Given the description of an element on the screen output the (x, y) to click on. 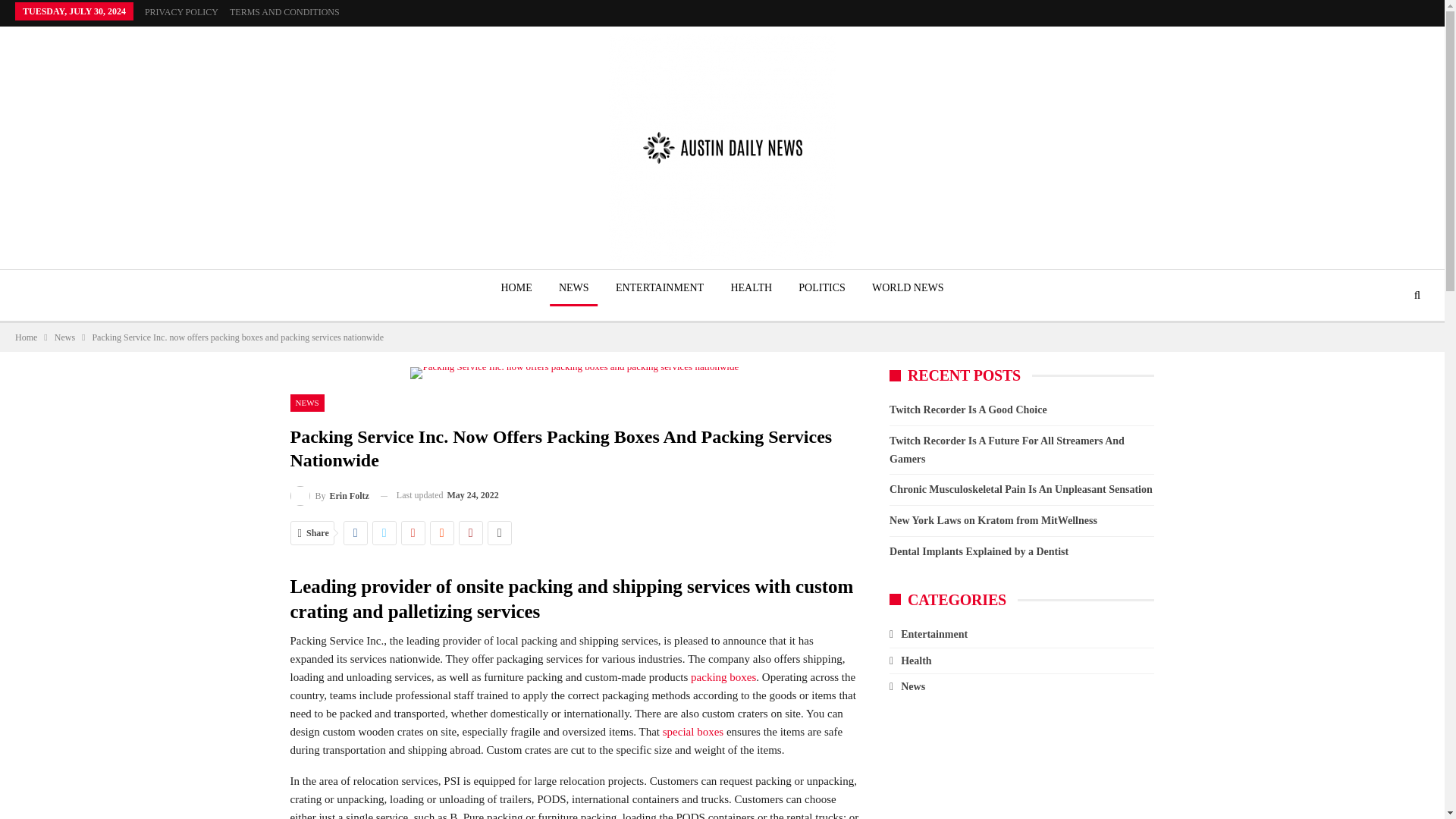
News (65, 337)
Home (25, 337)
POLITICS (821, 288)
By Erin Foltz (328, 495)
NEWS (574, 288)
Browse Author Articles (328, 495)
HEALTH (750, 288)
TERMS AND CONDITIONS (284, 11)
ENTERTAINMENT (660, 288)
WORLD NEWS (908, 288)
HOME (516, 288)
special boxes (692, 731)
packing boxes (722, 676)
NEWS (306, 402)
PRIVACY POLICY (181, 11)
